Given the description of an element on the screen output the (x, y) to click on. 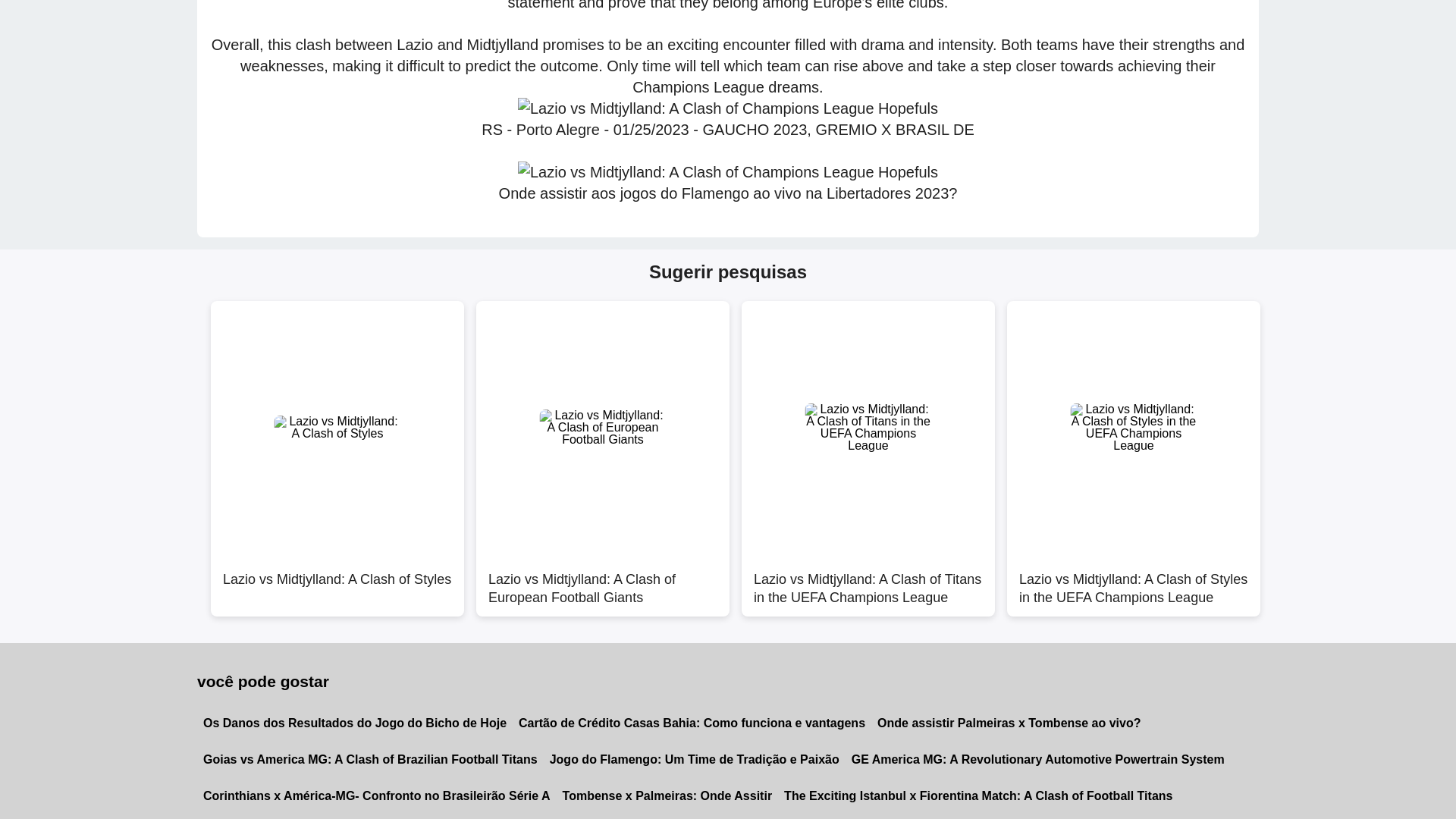
GE America MG: A Revolutionary Automotive Powertrain System (1037, 760)
Lazio vs Midtjylland: A Clash of European Football Giants (602, 580)
Tombense x Palmeiras: Onde Assitir (667, 796)
Onde assistir Palmeiras x Tombense ao vivo? (1008, 723)
Os Danos dos Resultados do Jogo do Bicho de Hoje (354, 723)
Lazio vs Midtjylland: A Clash of Styles (337, 580)
Goias vs America MG: A Clash of Brazilian Football Titans (369, 760)
